Given the description of an element on the screen output the (x, y) to click on. 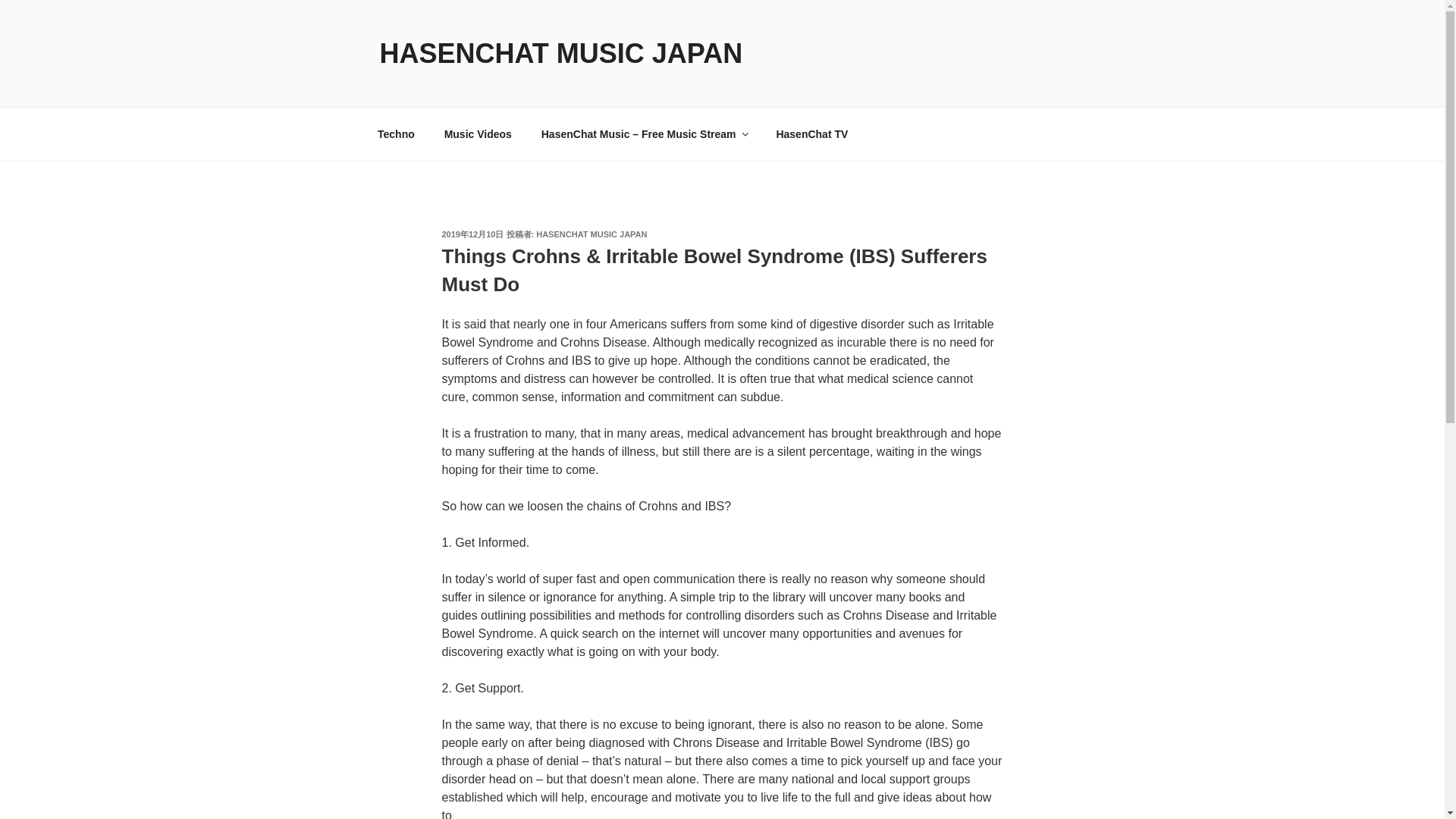
HASENCHAT MUSIC JAPAN (560, 52)
Techno (396, 133)
Music Videos (477, 133)
HasenChat TV (811, 133)
HASENCHAT MUSIC JAPAN (590, 234)
